Given the description of an element on the screen output the (x, y) to click on. 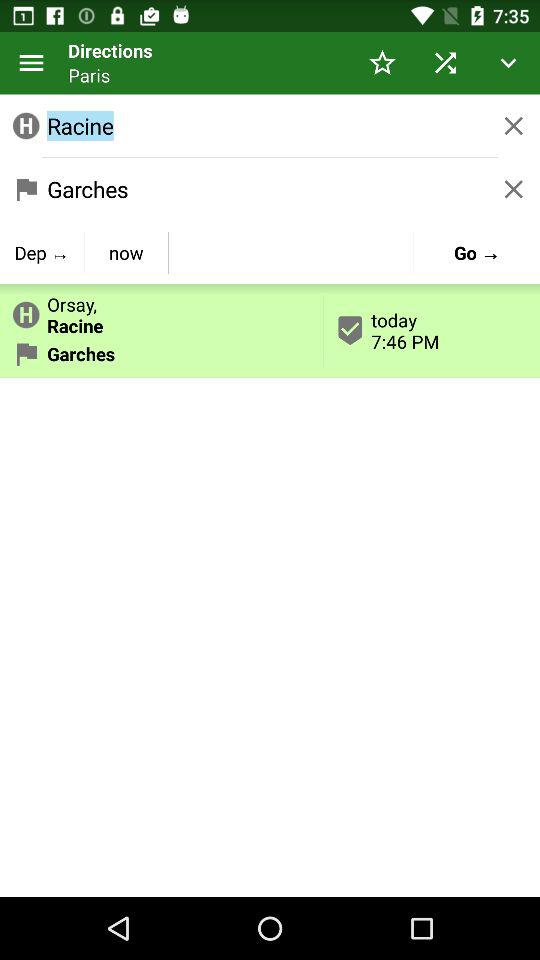
press icon next to today 7 46 item (126, 252)
